Given the description of an element on the screen output the (x, y) to click on. 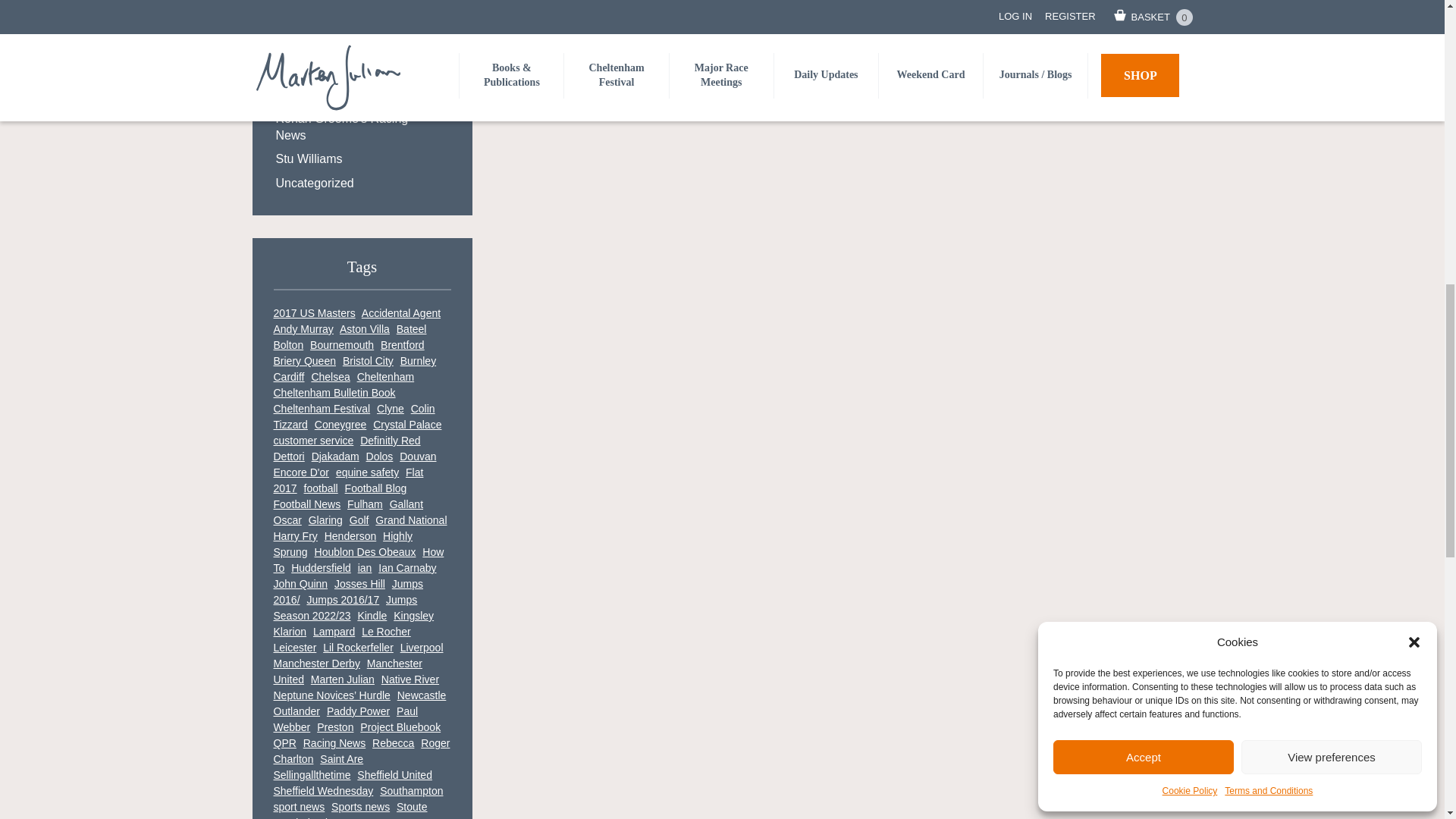
Aston Villa Tag (364, 328)
Burnley Tag (417, 360)
Bateel Tag (411, 328)
Clyne Tag (390, 408)
Andy Murray Tag (303, 328)
Bolton Tag (287, 345)
Brentford Tag (402, 345)
Cheltenham Tag (385, 377)
Coneygree Tag (340, 424)
2017 US Masters Tag (314, 313)
Bristol City Tag (367, 360)
Cheltenham Festival Tag (321, 408)
Cheltenham Bulletin Book Tag (333, 392)
Cardiff Tag (288, 377)
Chelsea Tag (330, 377)
